Given the description of an element on the screen output the (x, y) to click on. 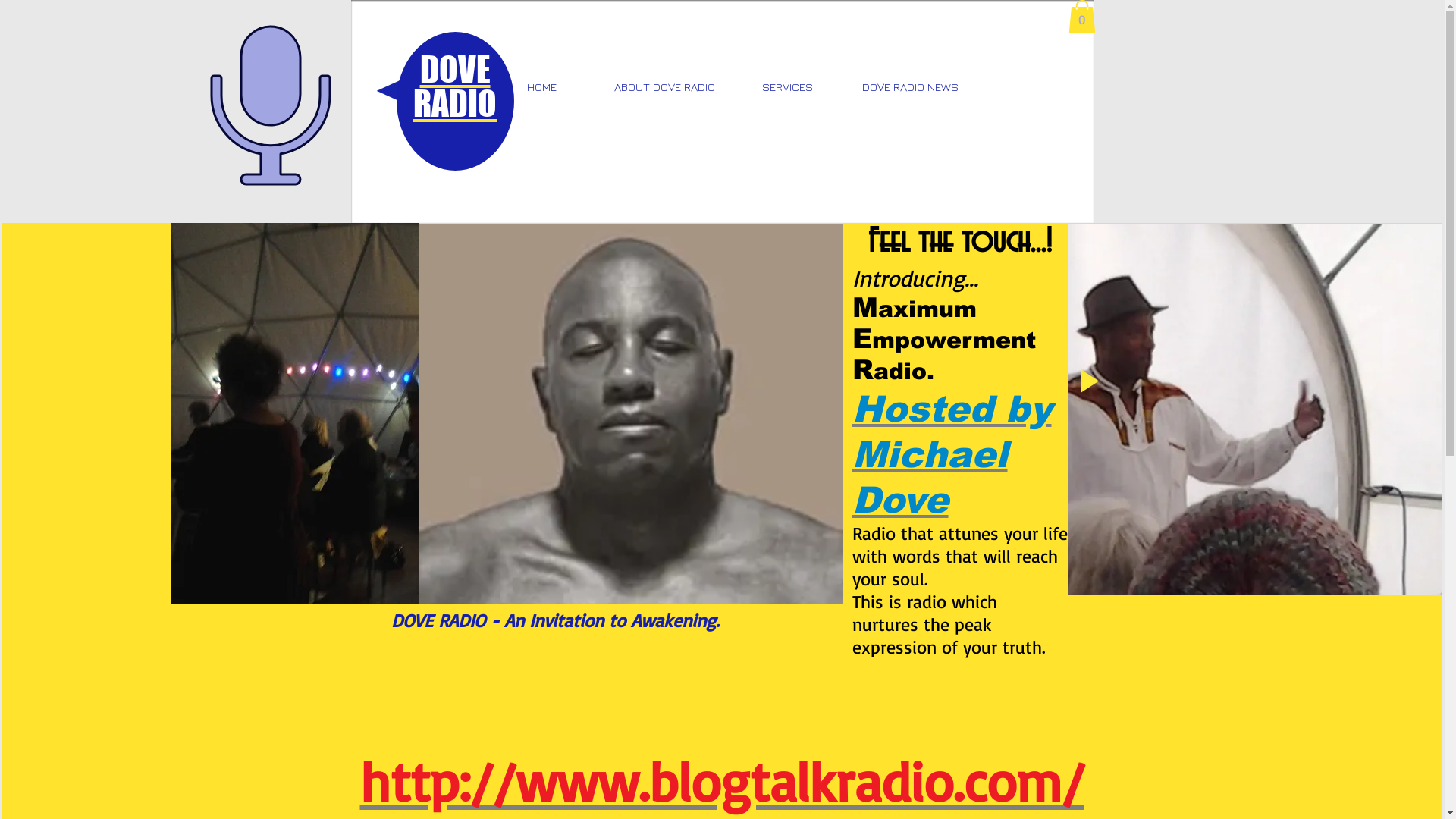
croped for vid 8.jpg Element type: hover (1254, 409)
SERVICES Element type: text (787, 86)
RADIO Element type: text (454, 103)
HOME Element type: text (541, 86)
Hosted by Element type: text (951, 409)
ABOUT DOVE RADIO Element type: text (664, 86)
2013-06-14 20.30.43.jpg Element type: hover (294, 412)
0 Element type: text (1081, 16)
DOVE Element type: text (455, 69)
DOVE RADIO NEWS Element type: text (910, 86)
Michael Dove Element type: text (929, 477)
